Given the description of an element on the screen output the (x, y) to click on. 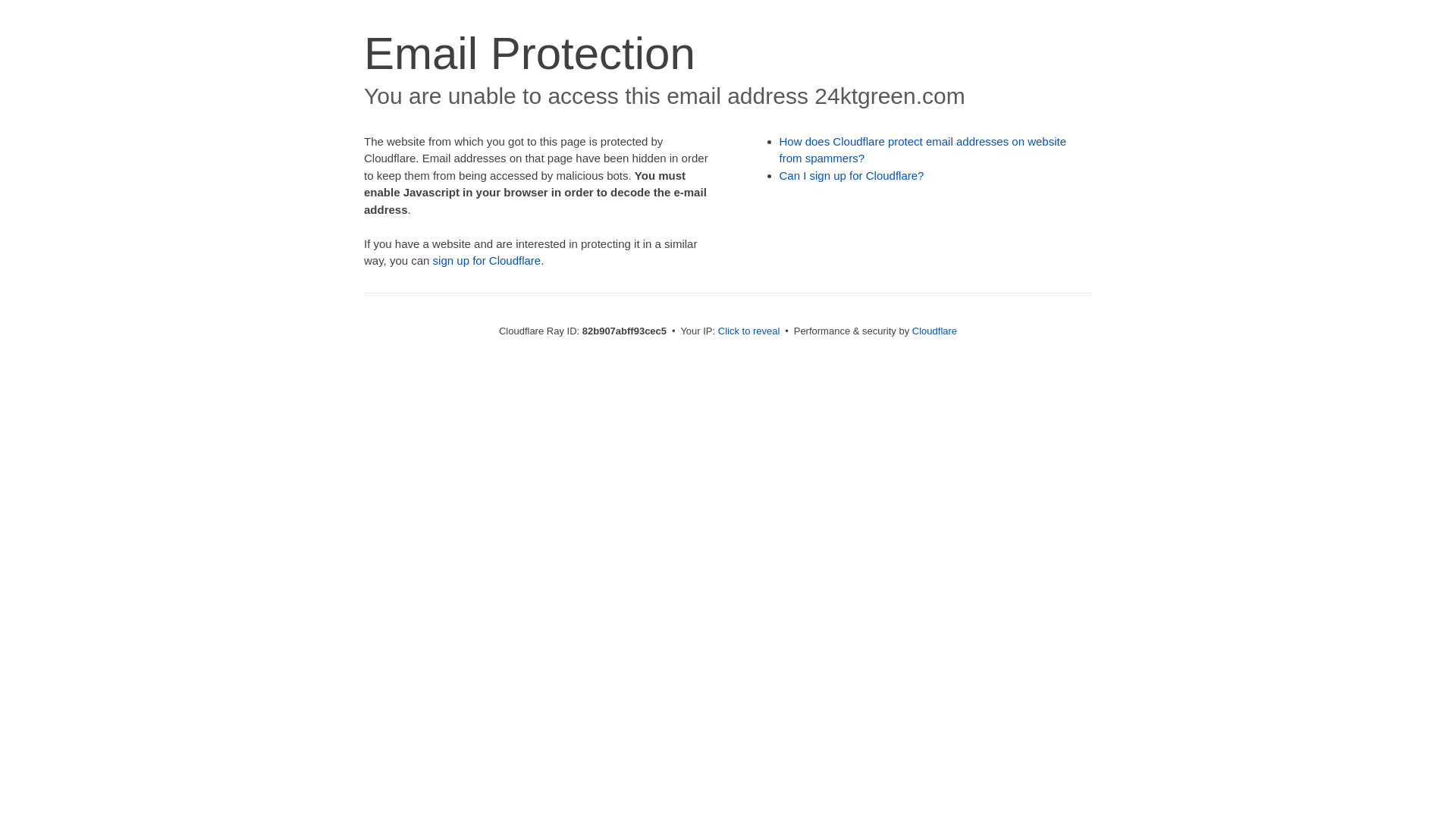
Can I sign up for Cloudflare? Element type: text (851, 175)
Cloudflare Element type: text (934, 330)
sign up for Cloudflare Element type: text (487, 260)
Click to reveal Element type: text (749, 330)
